Given the description of an element on the screen output the (x, y) to click on. 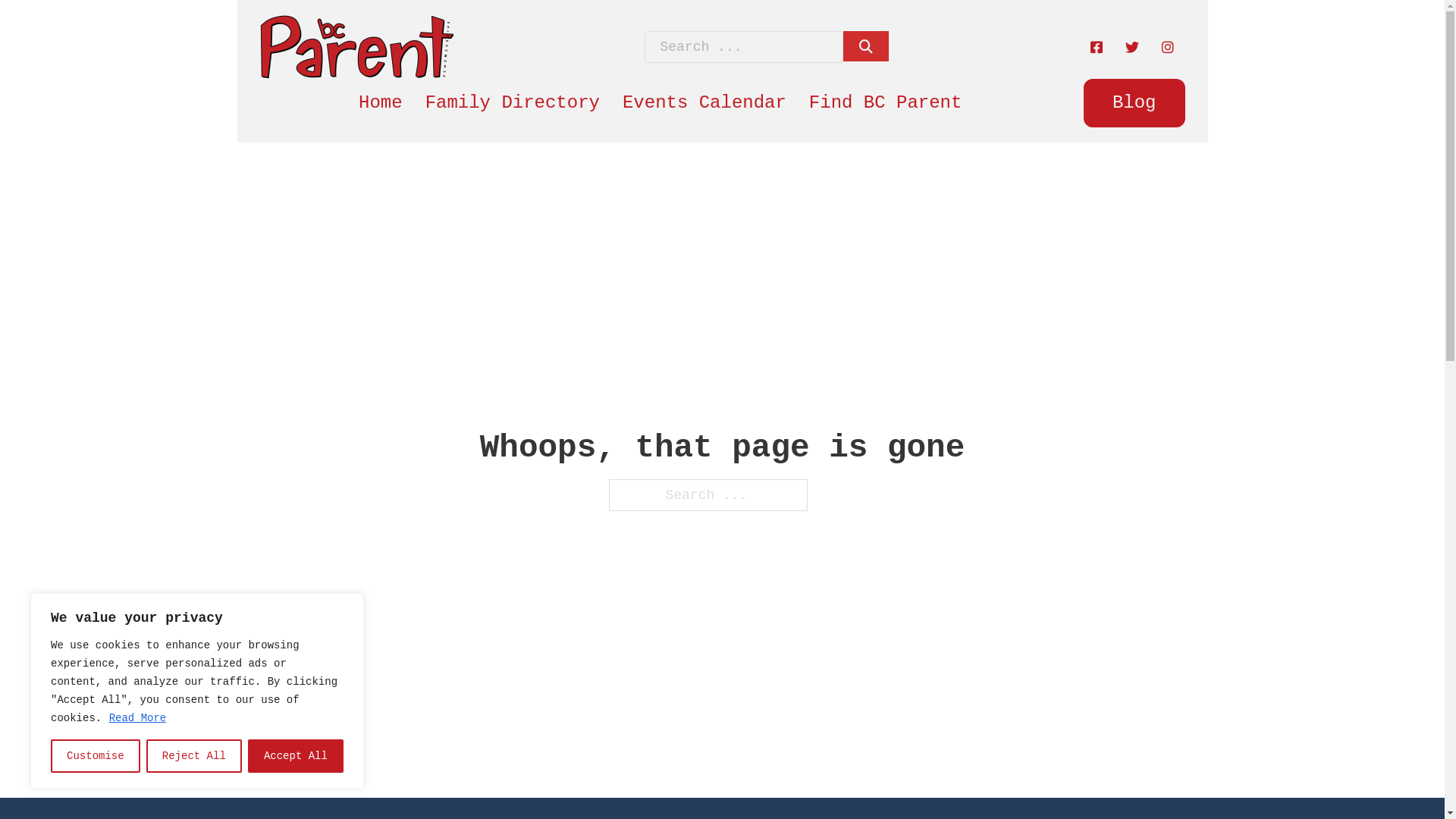
Read More Element type: text (137, 717)
Find BC Parent Element type: text (885, 102)
Facebook Element type: hover (1095, 46)
Home Element type: text (380, 102)
Twitter Element type: hover (1131, 46)
Accept All Element type: text (295, 755)
Blog Element type: text (1134, 102)
Events Calendar Element type: text (704, 102)
Instagram Element type: hover (1166, 46)
Reject All Element type: text (193, 755)
Family Directory Element type: text (512, 102)
Customise Element type: text (95, 755)
